Given the description of an element on the screen output the (x, y) to click on. 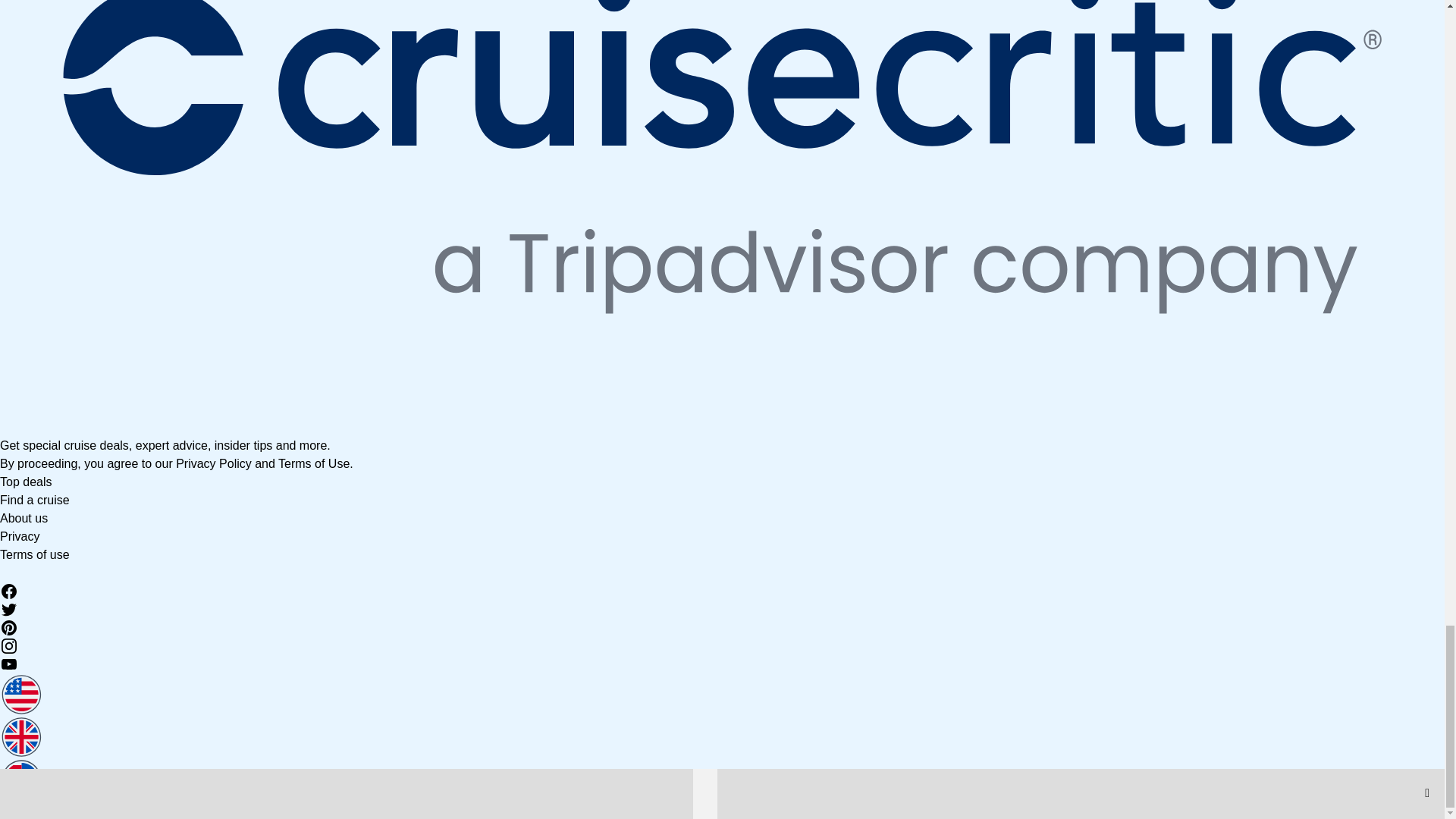
Top deals (26, 481)
Privacy Policy (213, 463)
Terms of Use (313, 463)
Find a cruise (34, 499)
